Given the description of an element on the screen output the (x, y) to click on. 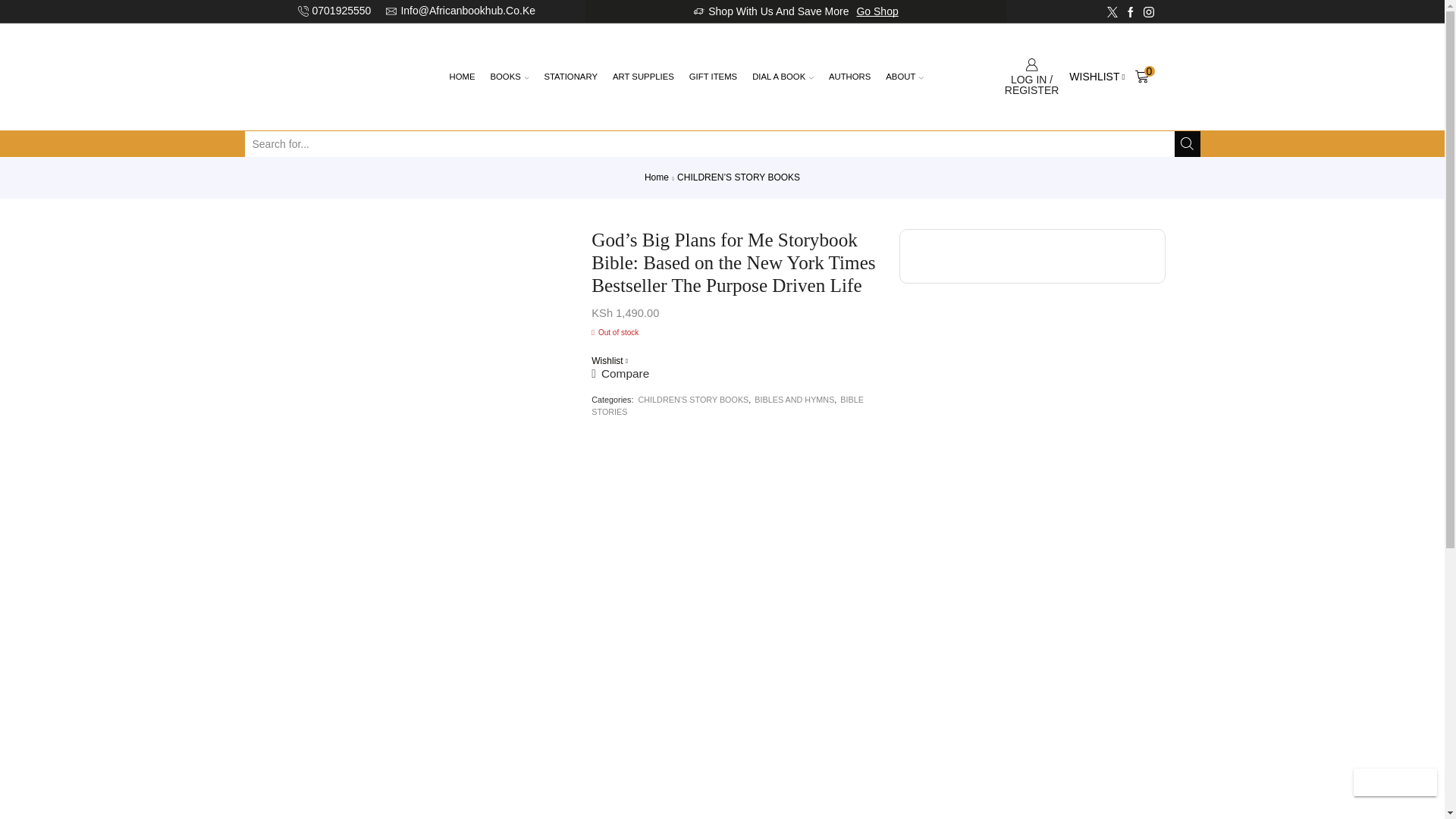
BOOKS (508, 76)
ART SUPPLIES (643, 76)
Twitter (1112, 10)
STATIONARY (570, 76)
DIAL A BOOK (782, 76)
Log in (947, 333)
ABOUT (904, 76)
Instagram (1148, 10)
GIFT ITEMS (712, 76)
HOME (461, 76)
AUTHORS (849, 76)
Facebook (1130, 10)
Go Shop (877, 11)
